Given the description of an element on the screen output the (x, y) to click on. 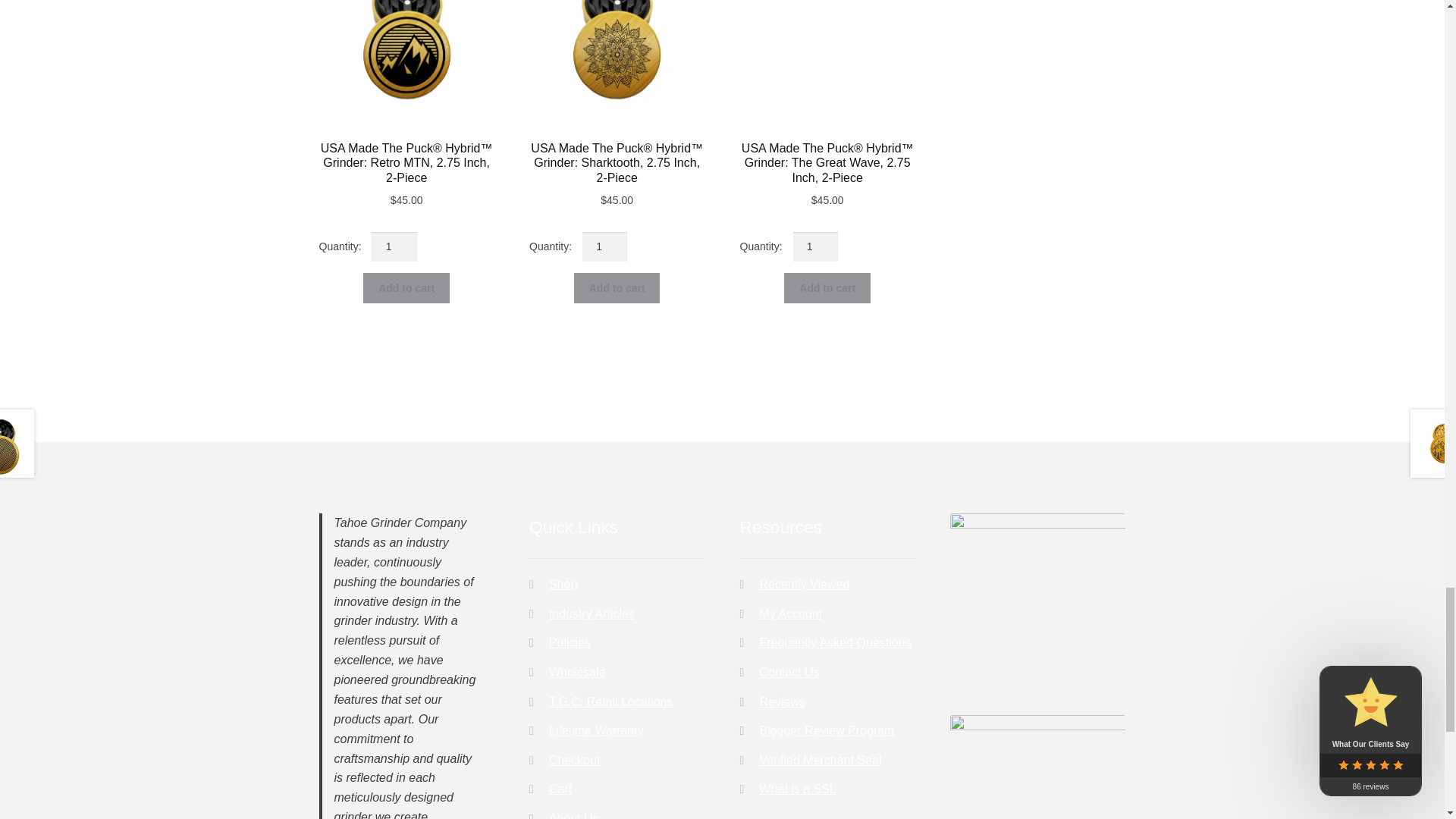
1 (604, 246)
1 (815, 246)
1 (393, 246)
Credit Cards Accepted (1037, 766)
